Given the description of an element on the screen output the (x, y) to click on. 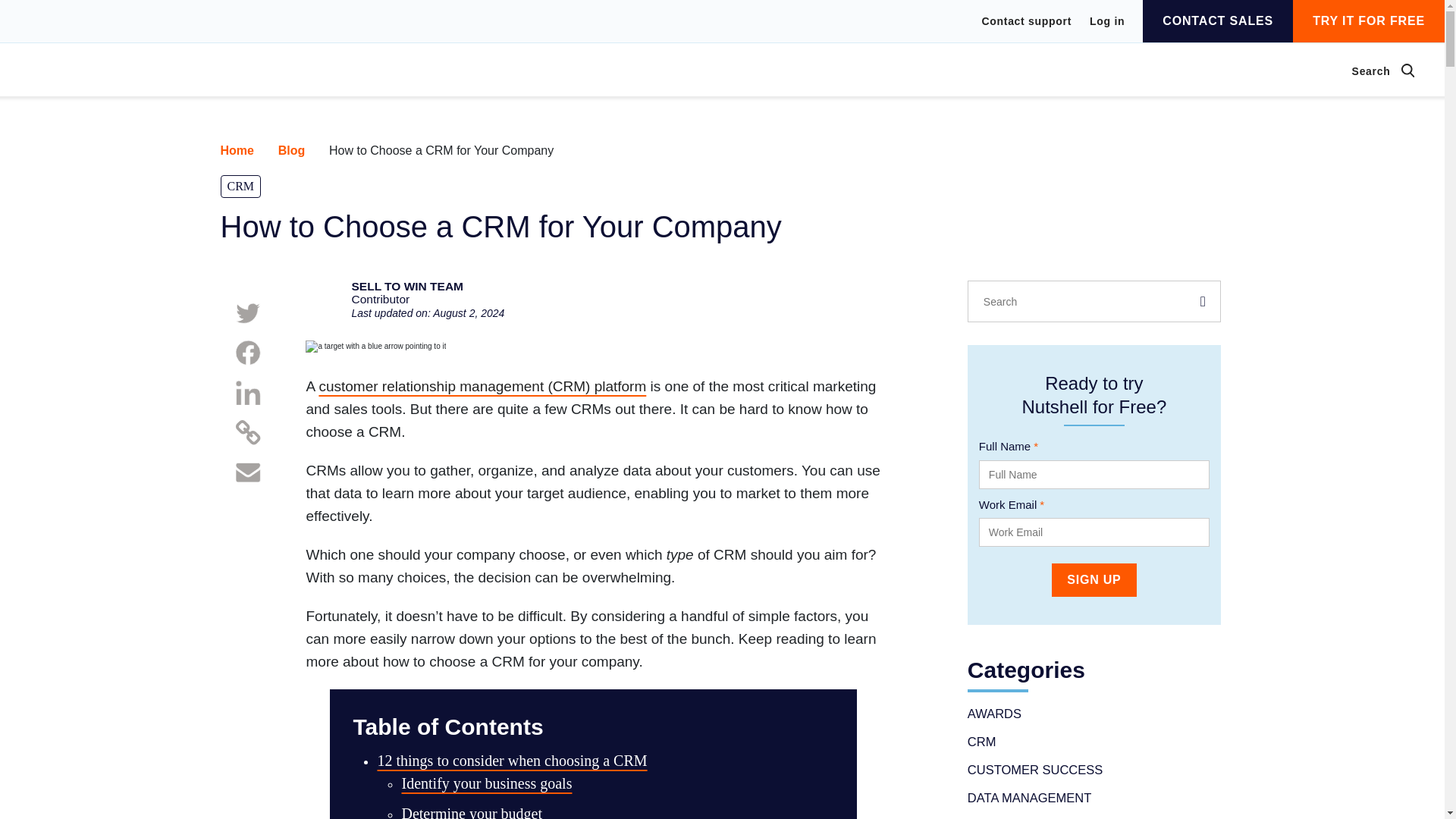
Log in (426, 302)
Sign Up (1106, 20)
CRM (1093, 580)
12 things to consider when choosing a CRM (239, 186)
Blog (511, 760)
Contact support (301, 150)
Determine your budget (1026, 21)
Home (471, 812)
CONTACT SALES (246, 150)
